Given the description of an element on the screen output the (x, y) to click on. 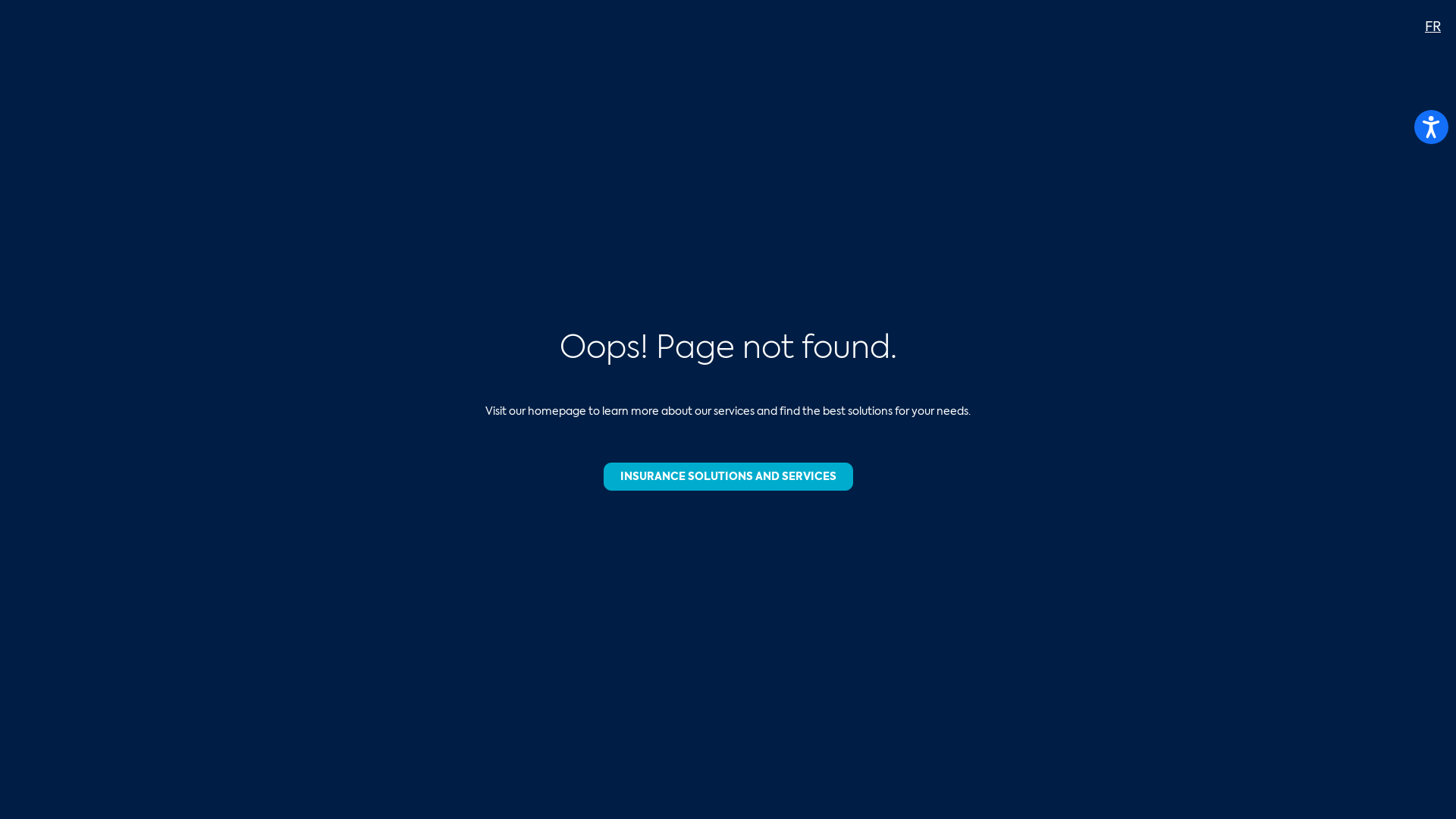
FR Element type: text (1432, 26)
INSURANCE SOLUTIONS AND SERVICES Element type: text (728, 476)
